Given the description of an element on the screen output the (x, y) to click on. 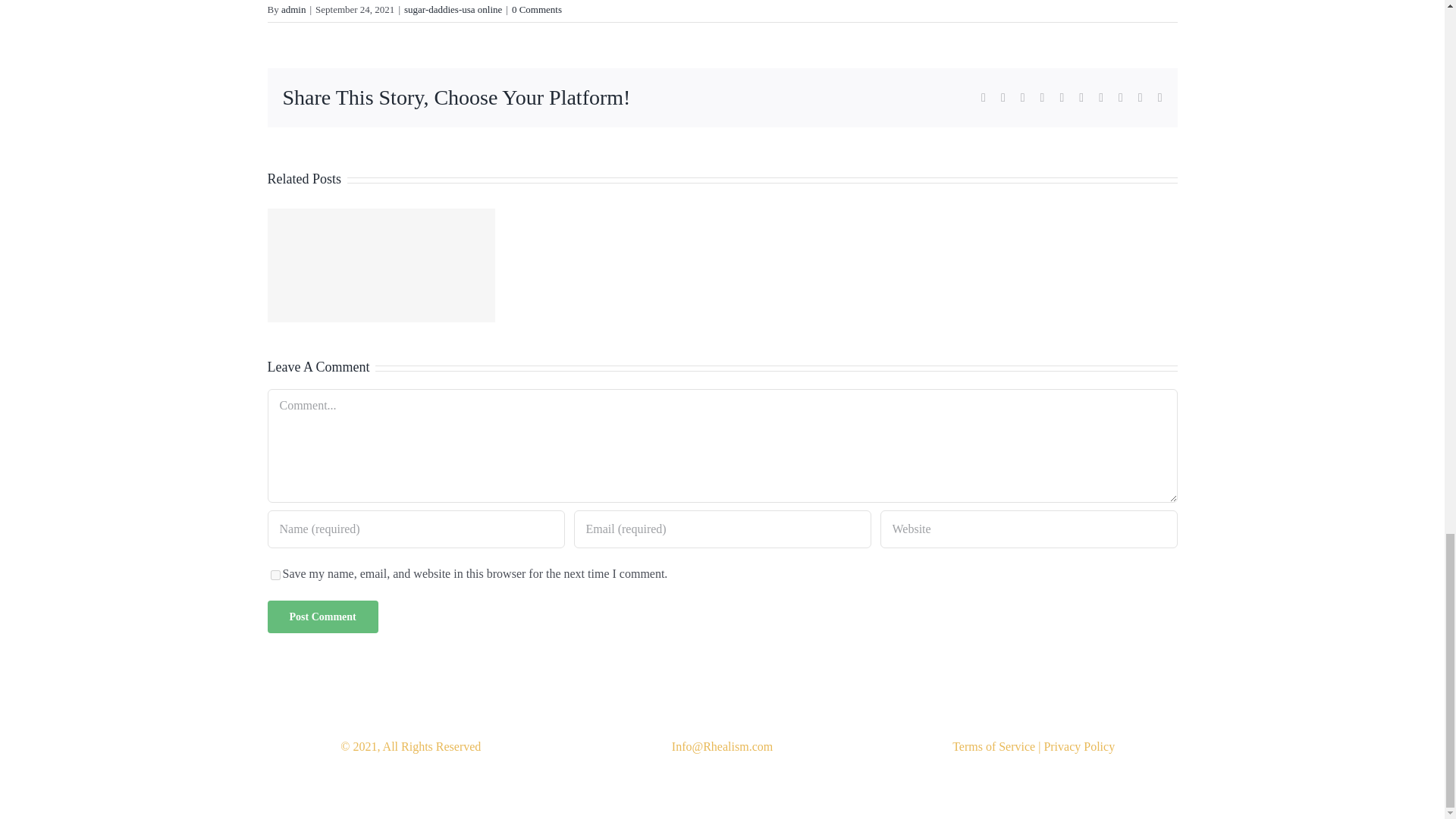
yes (274, 574)
Posts by admin (293, 9)
sugar-daddies-usa online (453, 9)
admin (293, 9)
Post Comment (321, 616)
0 Comments (537, 9)
